Given the description of an element on the screen output the (x, y) to click on. 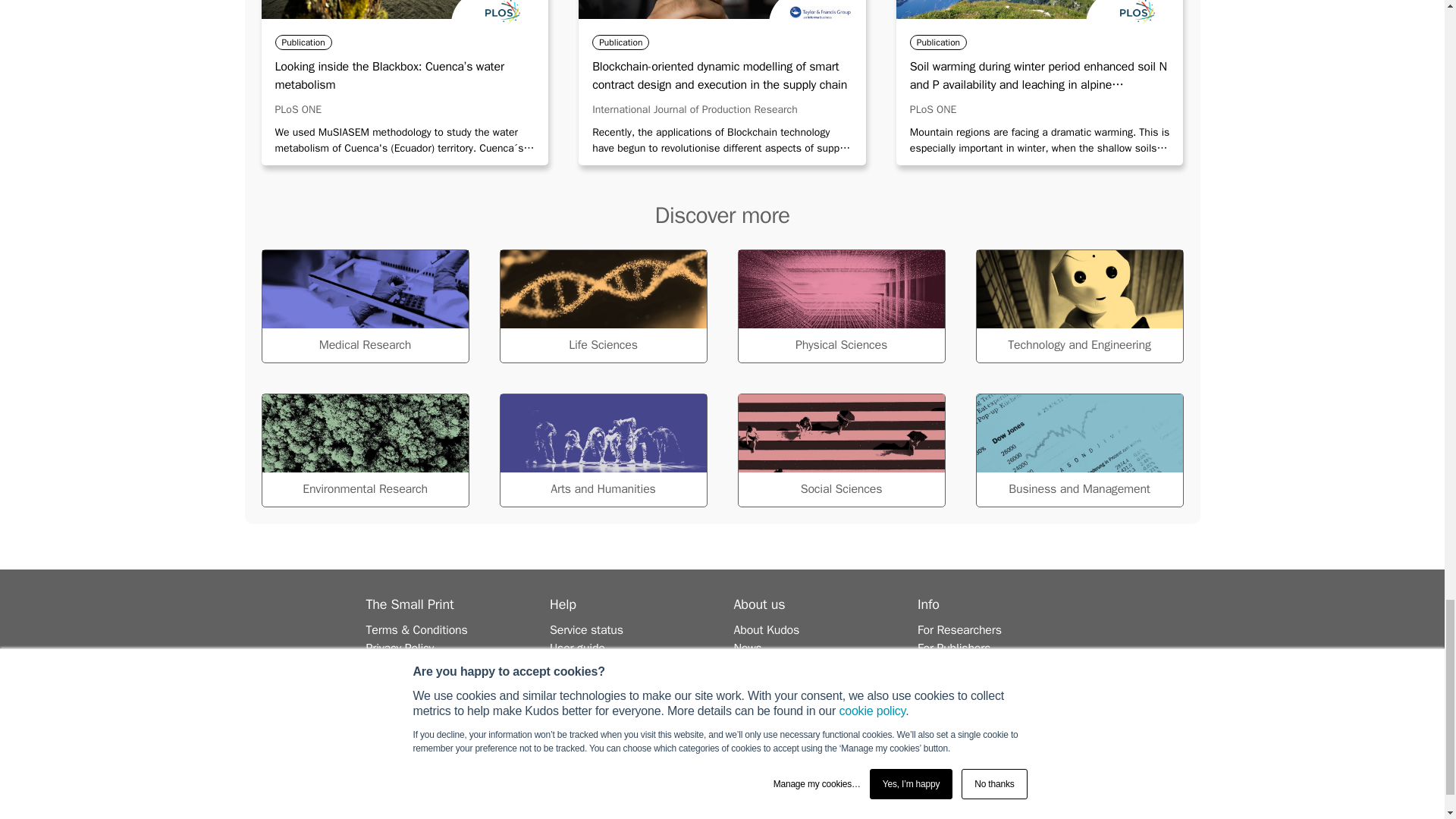
Privacy Policy (399, 648)
Technology and Engineering (1078, 306)
Logo Usage (395, 666)
Physical Sciences (840, 306)
International Journal of Production Research (694, 109)
Medical Research (364, 306)
PLoS ONE (933, 109)
Social Sciences (840, 449)
Life Sciences (602, 306)
Environmental Research (364, 449)
PLoS ONE (298, 109)
Arts and Humanities (602, 449)
